Given the description of an element on the screen output the (x, y) to click on. 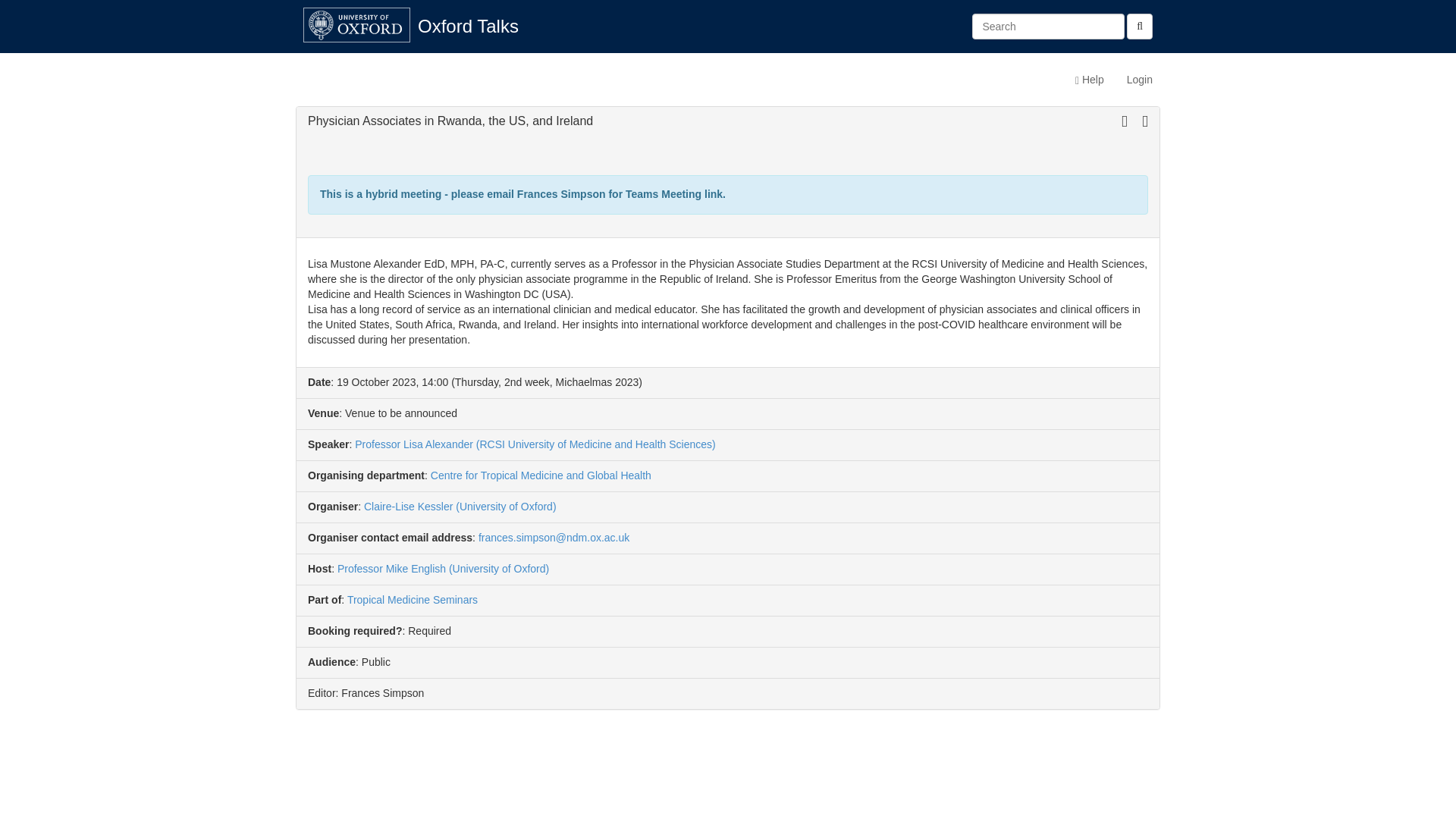
Centre for Tropical Medicine and Global Health (540, 475)
Help (1089, 79)
Login (1139, 79)
Tropical Medicine Seminars (412, 599)
Oxford Talks (467, 26)
